Given the description of an element on the screen output the (x, y) to click on. 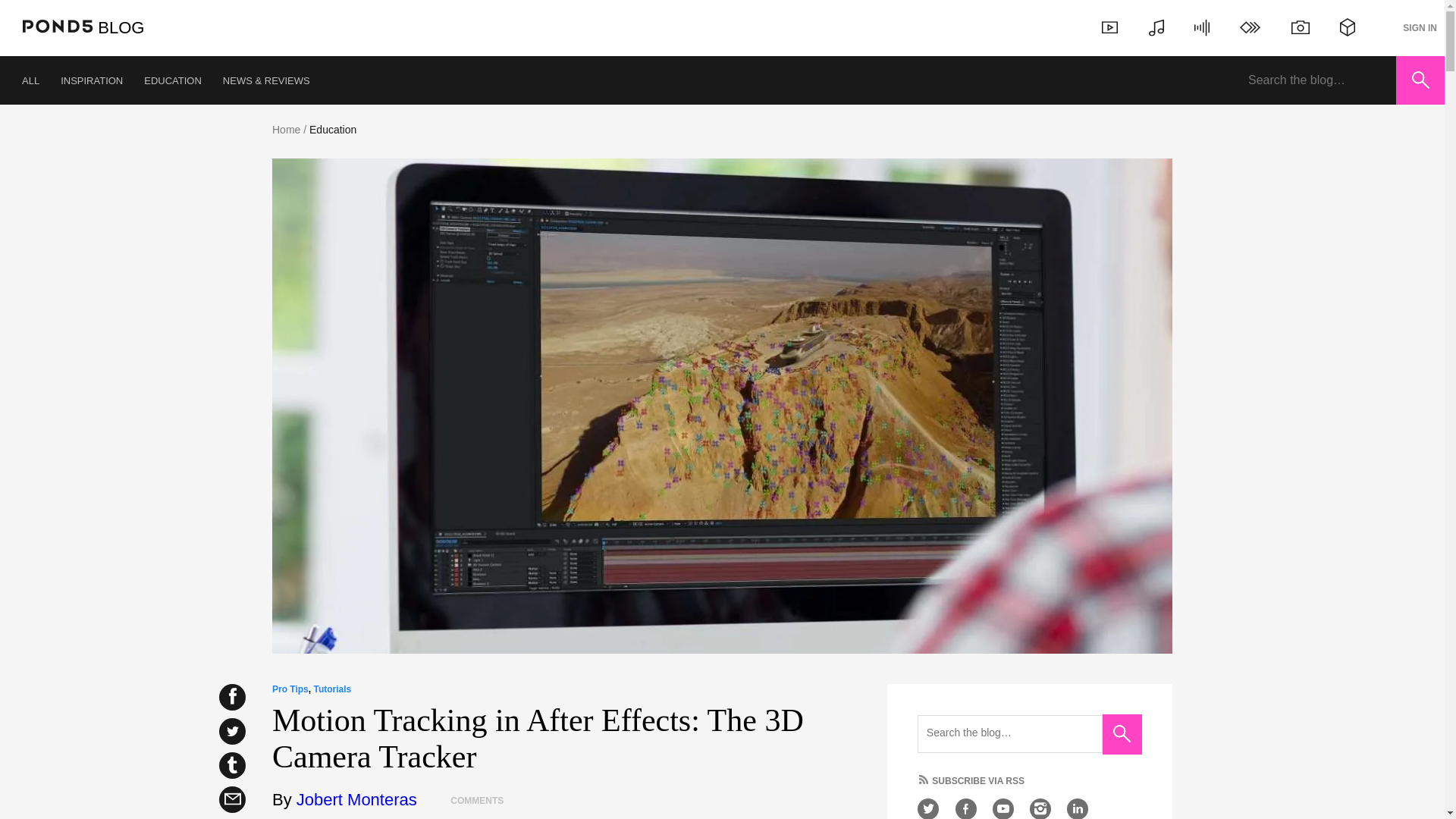
ALL (30, 79)
Tutorials (331, 688)
Pro Tips (290, 688)
INSPIRATION (91, 79)
BLOG (120, 27)
Home (285, 129)
Search for: (1316, 79)
EDUCATION (172, 79)
Education (332, 129)
Search for: (1009, 733)
